Given the description of an element on the screen output the (x, y) to click on. 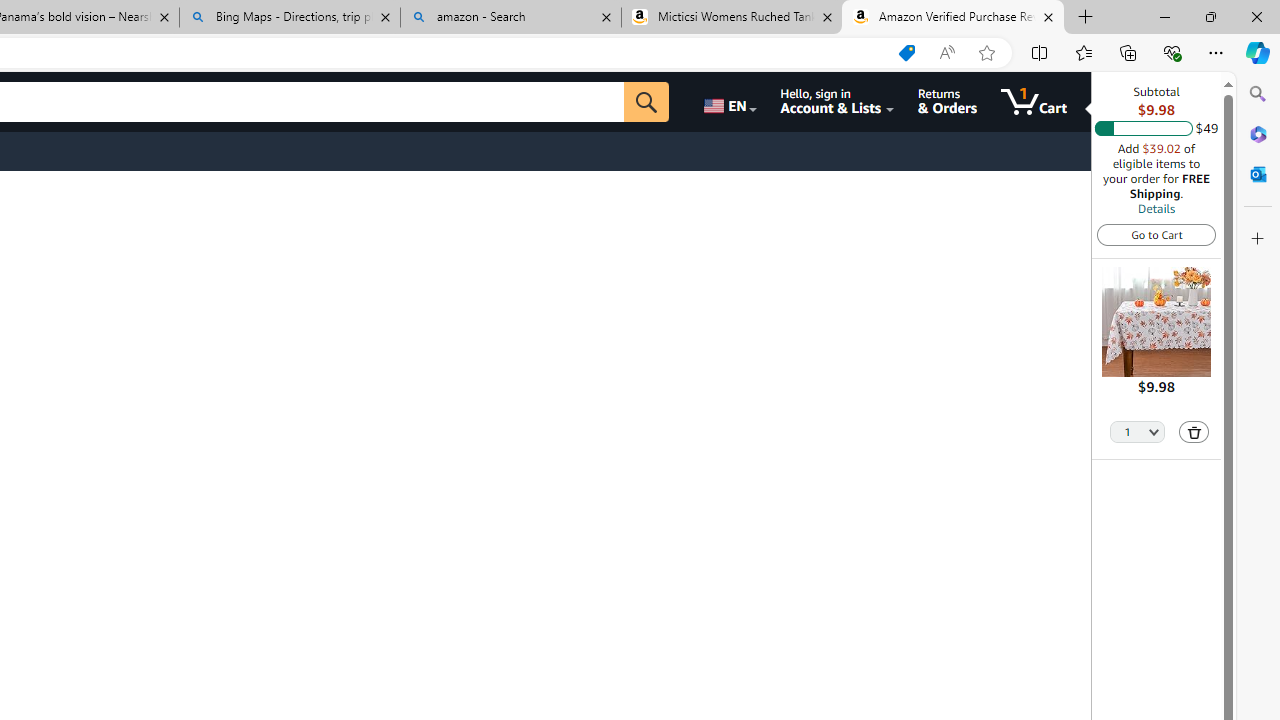
Hello, sign in Account & Lists (836, 101)
Delete (1193, 431)
Go (646, 101)
amazon - Search (510, 17)
Go to Cart (1156, 234)
